Given the description of an element on the screen output the (x, y) to click on. 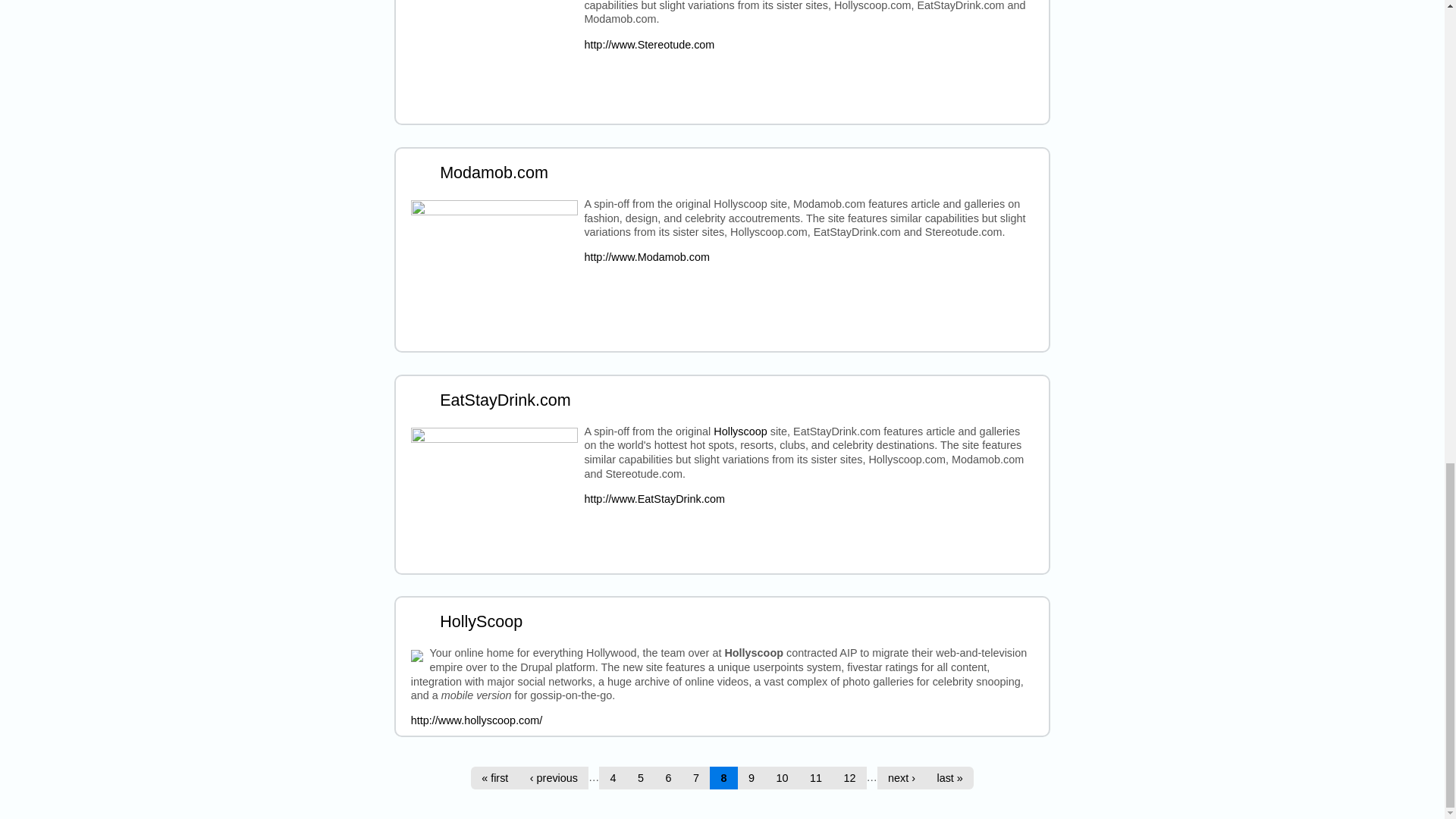
Go to page 10 (782, 777)
Go to page 5 (641, 777)
Go to page 7 (696, 777)
EatStayDrink.com (504, 399)
Go to previous page (553, 777)
Go to page 9 (751, 777)
Go to page 4 (612, 777)
Go to page 11 (815, 777)
Hollyscoop (740, 431)
Go to page 6 (667, 777)
